Given the description of an element on the screen output the (x, y) to click on. 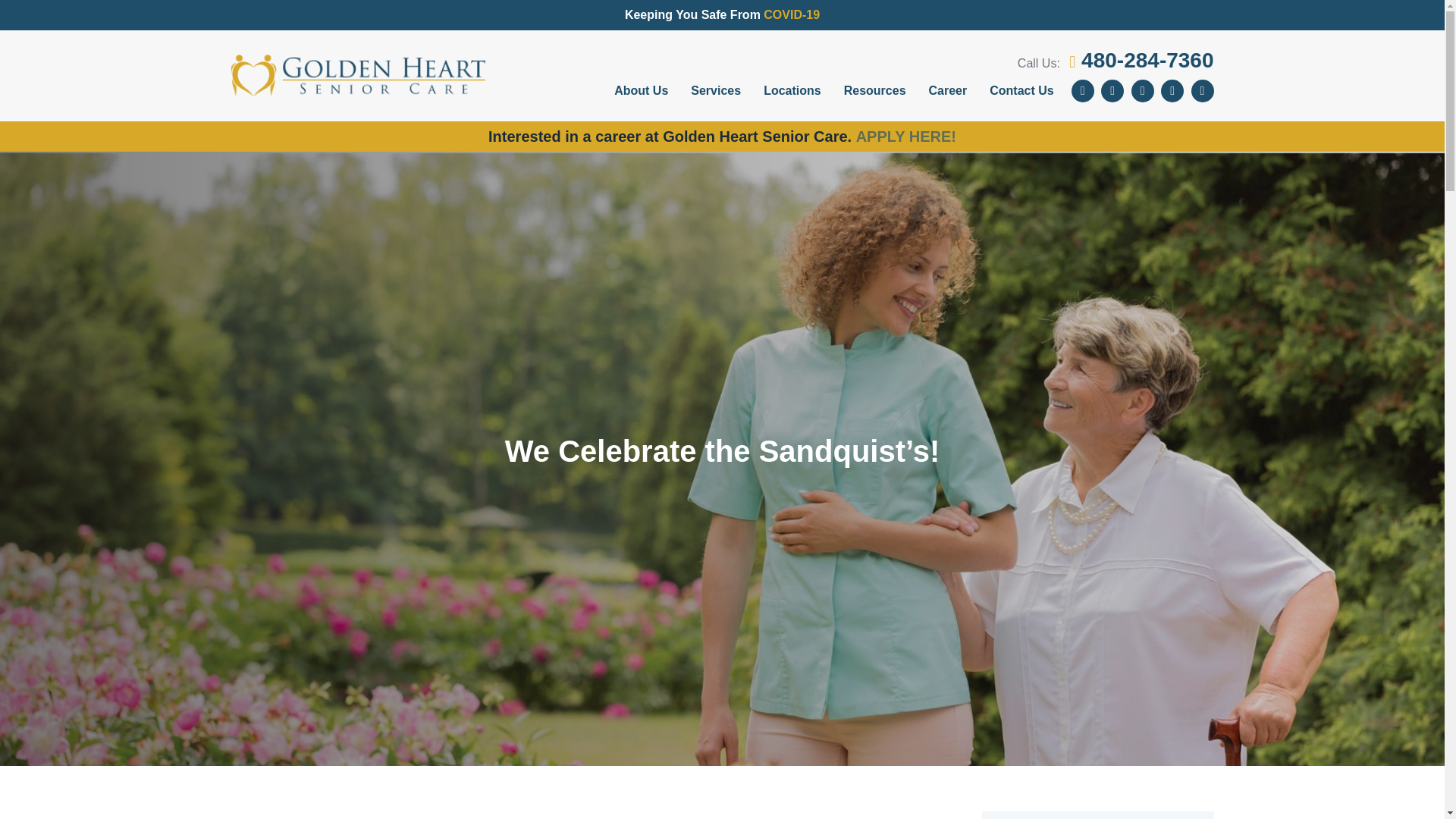
COVID-19 (790, 14)
APPLY HERE! (906, 135)
480-284-7360 (1140, 60)
Contact Us (1021, 91)
About Us (640, 91)
Apply here for career at Golden Heart Senior Care (906, 135)
Career (947, 91)
Resources (874, 91)
Locations (792, 91)
Services (715, 91)
